Given the description of an element on the screen output the (x, y) to click on. 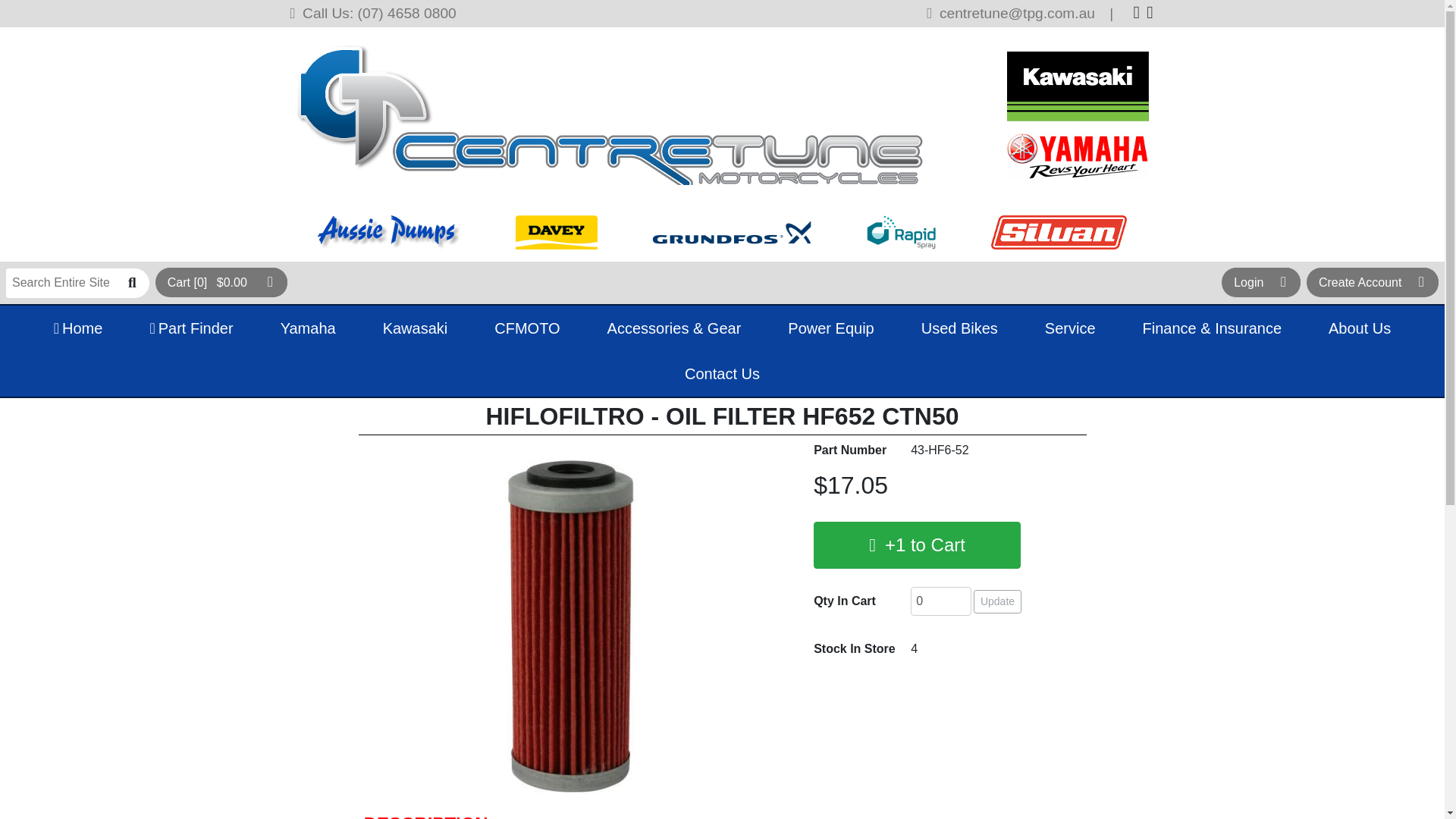
Power Equip (830, 328)
Used Bikes (959, 328)
Contact Us (722, 373)
Update (998, 601)
Home (77, 328)
0 (941, 601)
Create Account (1372, 281)
CFMOTO (526, 328)
Kawasaki (414, 328)
Service (1070, 328)
About Us (1359, 328)
Part Finder (191, 328)
Login (1260, 281)
Yamaha (307, 328)
Cart 0 0.00 (220, 281)
